Given the description of an element on the screen output the (x, y) to click on. 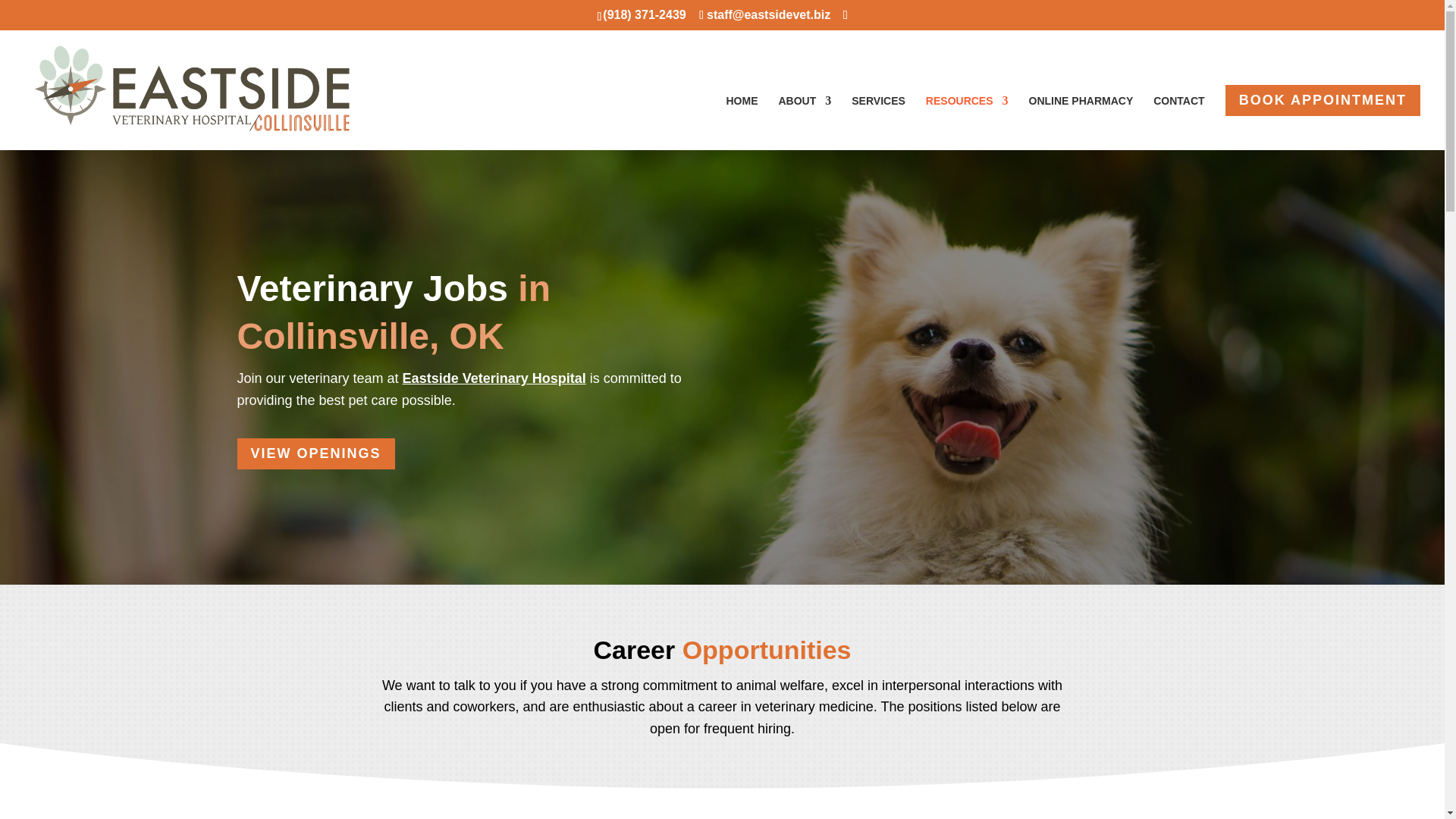
ABOUT (804, 122)
SERVICES (878, 122)
ONLINE PHARMACY (1081, 122)
RESOURCES (967, 122)
BOOK APPOINTMENT (1323, 100)
CONTACT (1178, 122)
